Given the description of an element on the screen output the (x, y) to click on. 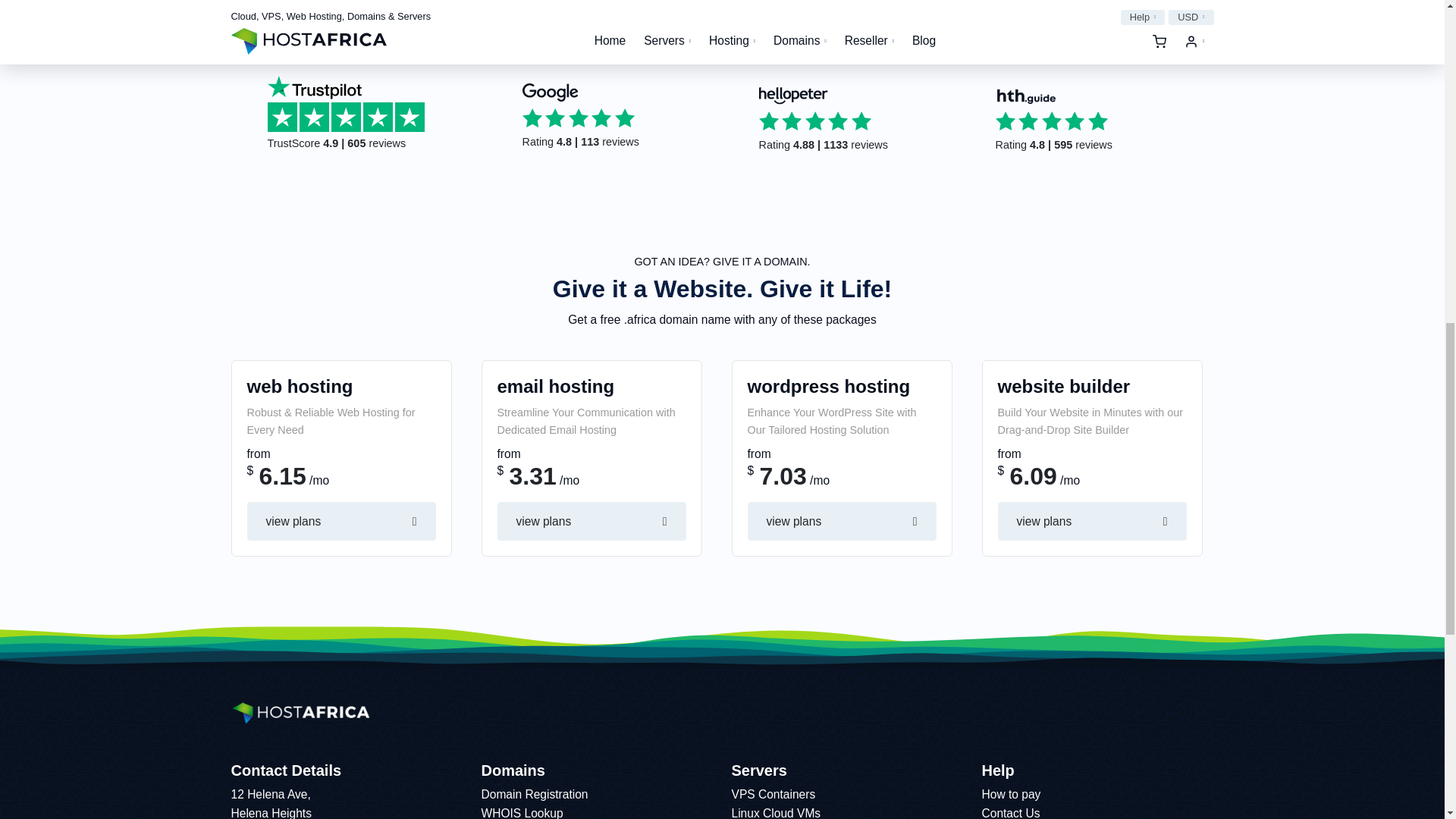
Our Trustpilot reviews (371, 115)
Our Hellopeter reviews (853, 120)
Our HTH reviews (1090, 120)
Our Google reviews (617, 117)
